Given the description of an element on the screen output the (x, y) to click on. 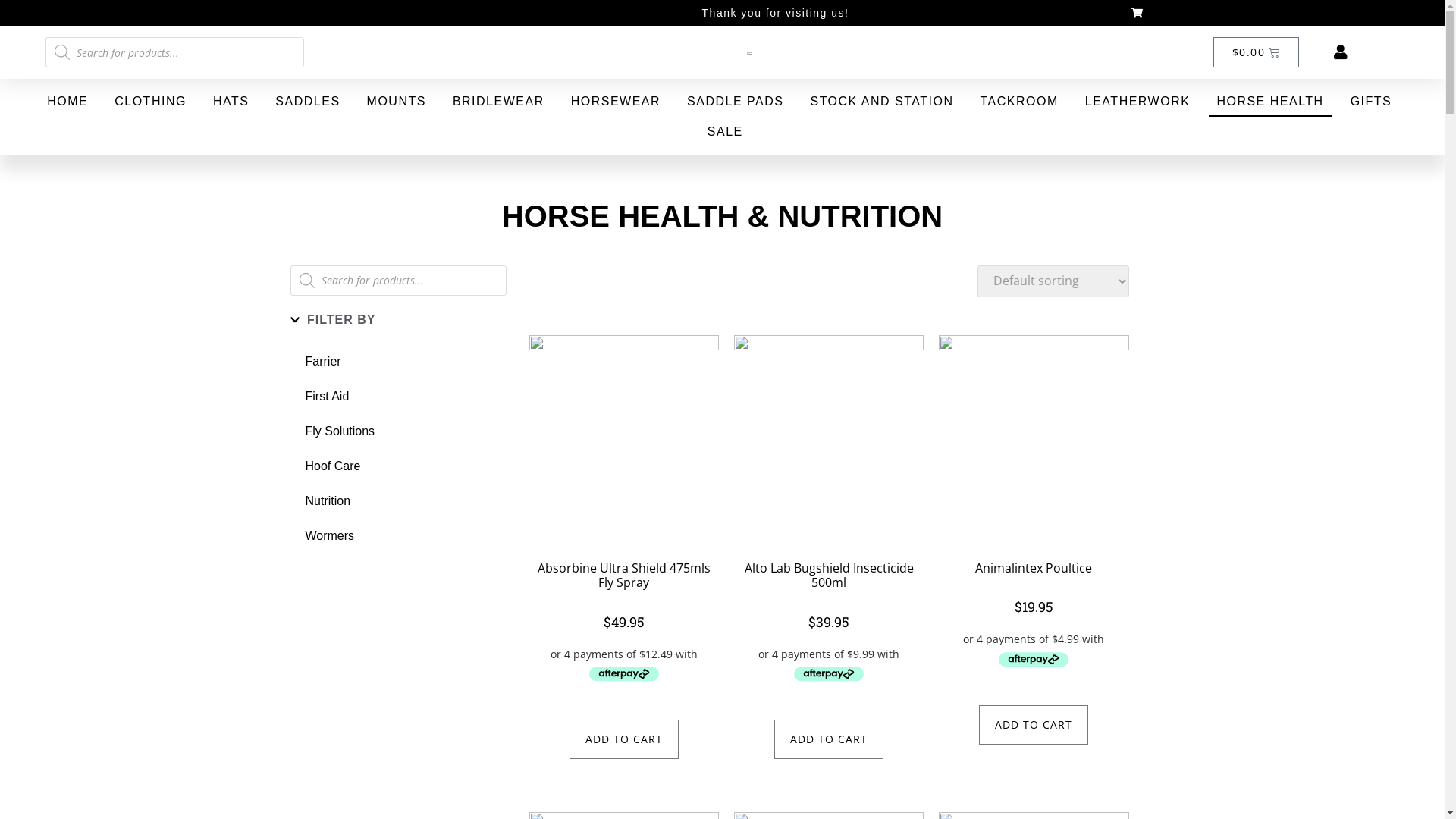
HOME Element type: text (67, 101)
$0.00 Element type: text (1256, 52)
HORSEWEAR Element type: text (615, 101)
ADD TO CART Element type: text (623, 739)
SALE Element type: text (724, 131)
GIFTS Element type: text (1371, 101)
First Aid Element type: text (397, 396)
CLOTHING Element type: text (150, 101)
Animalintex Poultice
$19.95
or 4 payments of $4.99 with Element type: text (1033, 502)
HATS Element type: text (230, 101)
Hoof Care Element type: text (397, 465)
Wormers Element type: text (397, 535)
HORSE HEALTH Element type: text (1269, 101)
ADD TO CART Element type: text (828, 739)
ADD TO CART Element type: text (1033, 724)
Fly Solutions Element type: text (397, 431)
LEATHERWORK Element type: text (1137, 101)
MOUNTS Element type: text (396, 101)
BRIDLEWEAR Element type: text (498, 101)
SADDLE PADS Element type: text (734, 101)
Nutrition Element type: text (397, 500)
STOCK AND STATION Element type: text (881, 101)
Thank you for visiting us! Element type: text (775, 12)
Farrier Element type: text (397, 361)
SADDLES Element type: text (307, 101)
TACKROOM Element type: text (1019, 101)
